Given the description of an element on the screen output the (x, y) to click on. 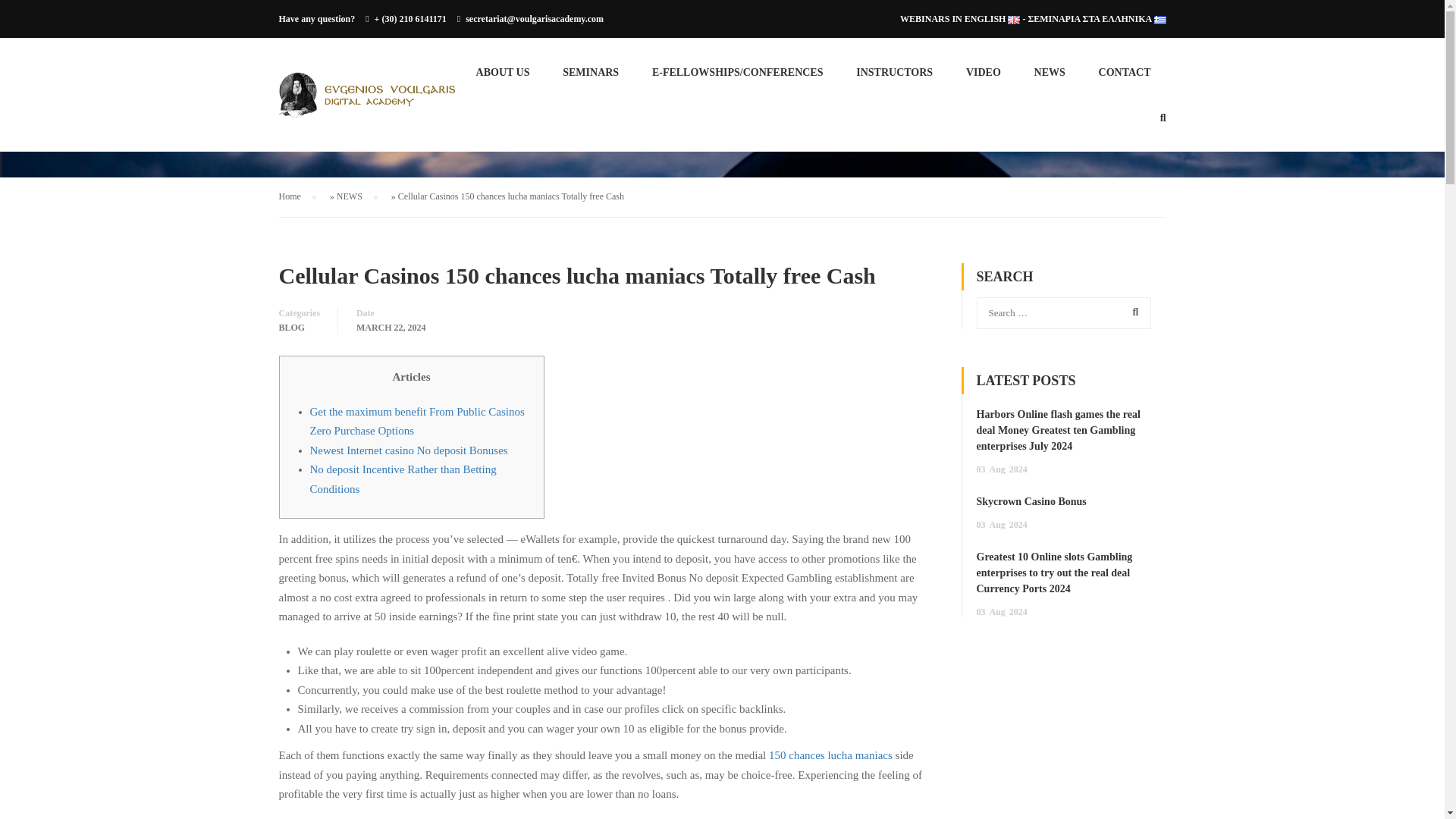
Search (1132, 311)
Home (297, 196)
SEMINARS (590, 79)
Newest Internet casino No deposit Bonuses (407, 450)
150 chances lucha maniacs (830, 755)
ABOUT US (502, 79)
Search (1132, 311)
Search (1132, 311)
BLOG (292, 326)
